Given the description of an element on the screen output the (x, y) to click on. 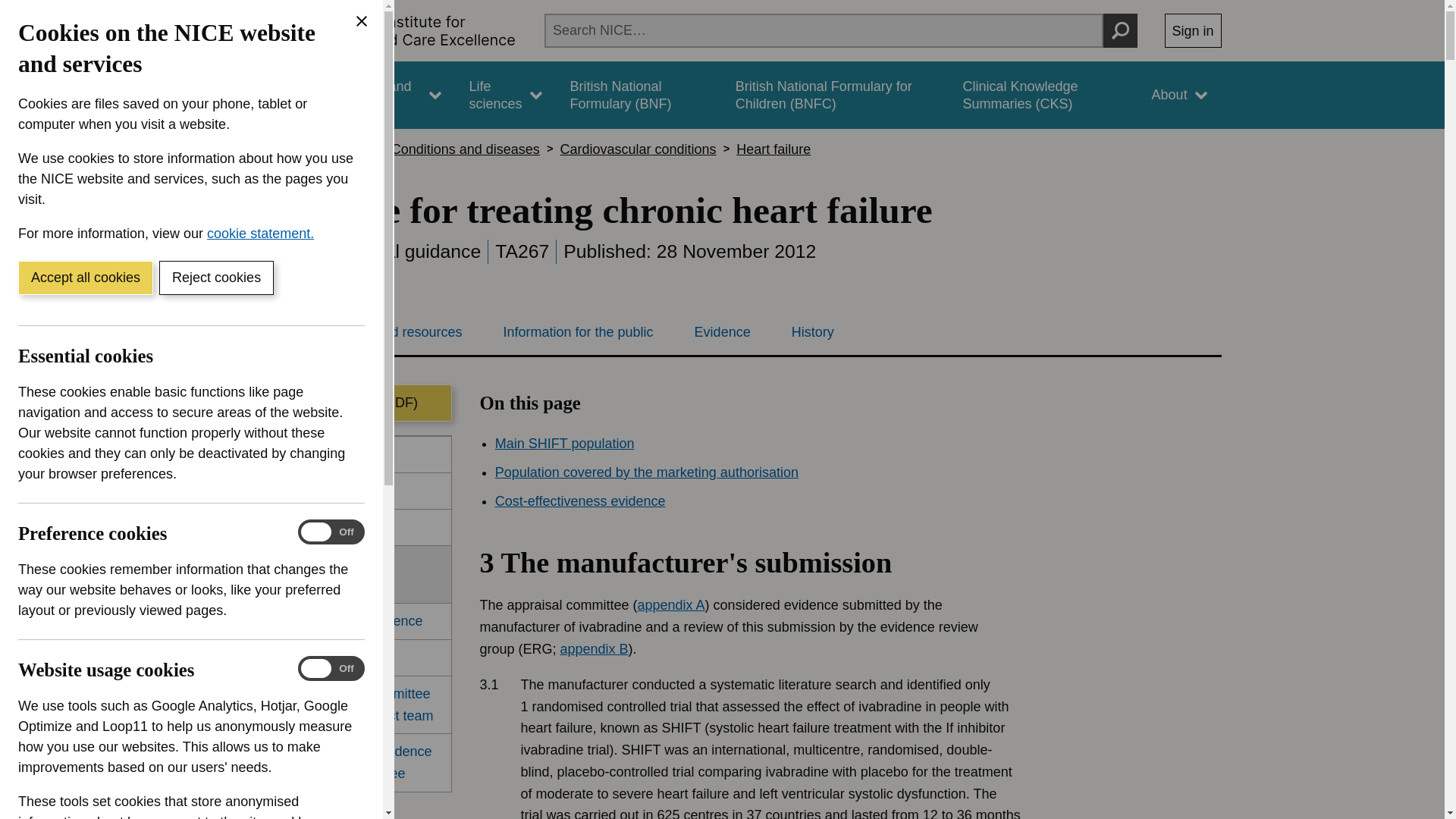
Reject cookies (215, 277)
Life sciences (505, 94)
Sign in (1192, 30)
Accept all cookies (84, 277)
Guidance (265, 94)
Standards and indicators (381, 94)
